Given the description of an element on the screen output the (x, y) to click on. 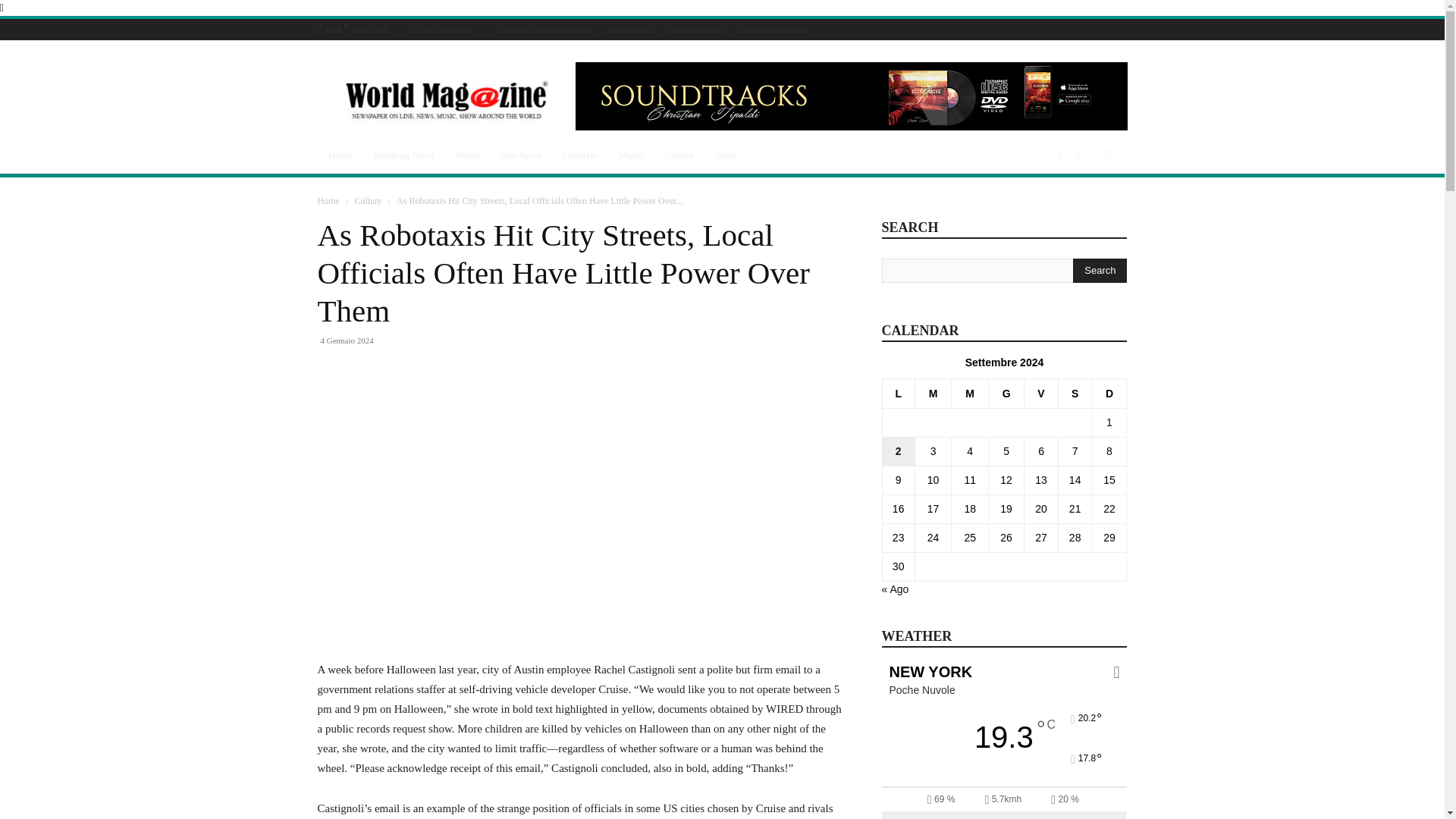
Sport (726, 155)
View all posts in Culture (367, 200)
Search (1099, 270)
Lifestyle (579, 155)
Culture (367, 200)
Home (328, 200)
Music (630, 155)
World (467, 155)
Breaking News (403, 155)
Top News (520, 155)
